Given the description of an element on the screen output the (x, y) to click on. 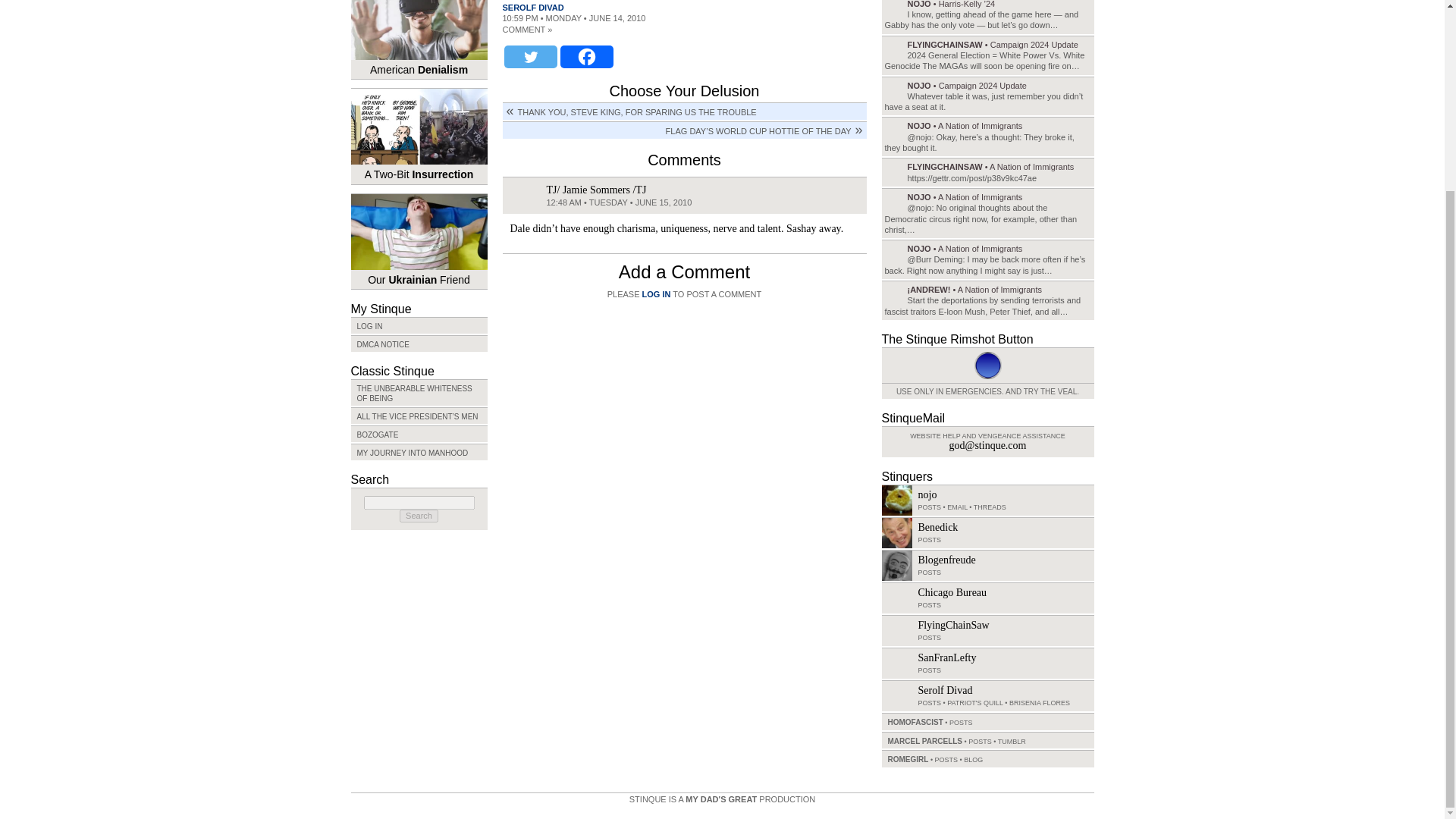
Search (418, 515)
Twitter (529, 56)
BOZOGATE (418, 433)
Search (418, 515)
DMCA NOTICE (418, 343)
LOG IN (418, 324)
Our Ukrainian Friend (418, 241)
SEROLF DIVAD (532, 7)
A Two-Bit Insurrection (418, 135)
LOG IN (656, 293)
